Given the description of an element on the screen output the (x, y) to click on. 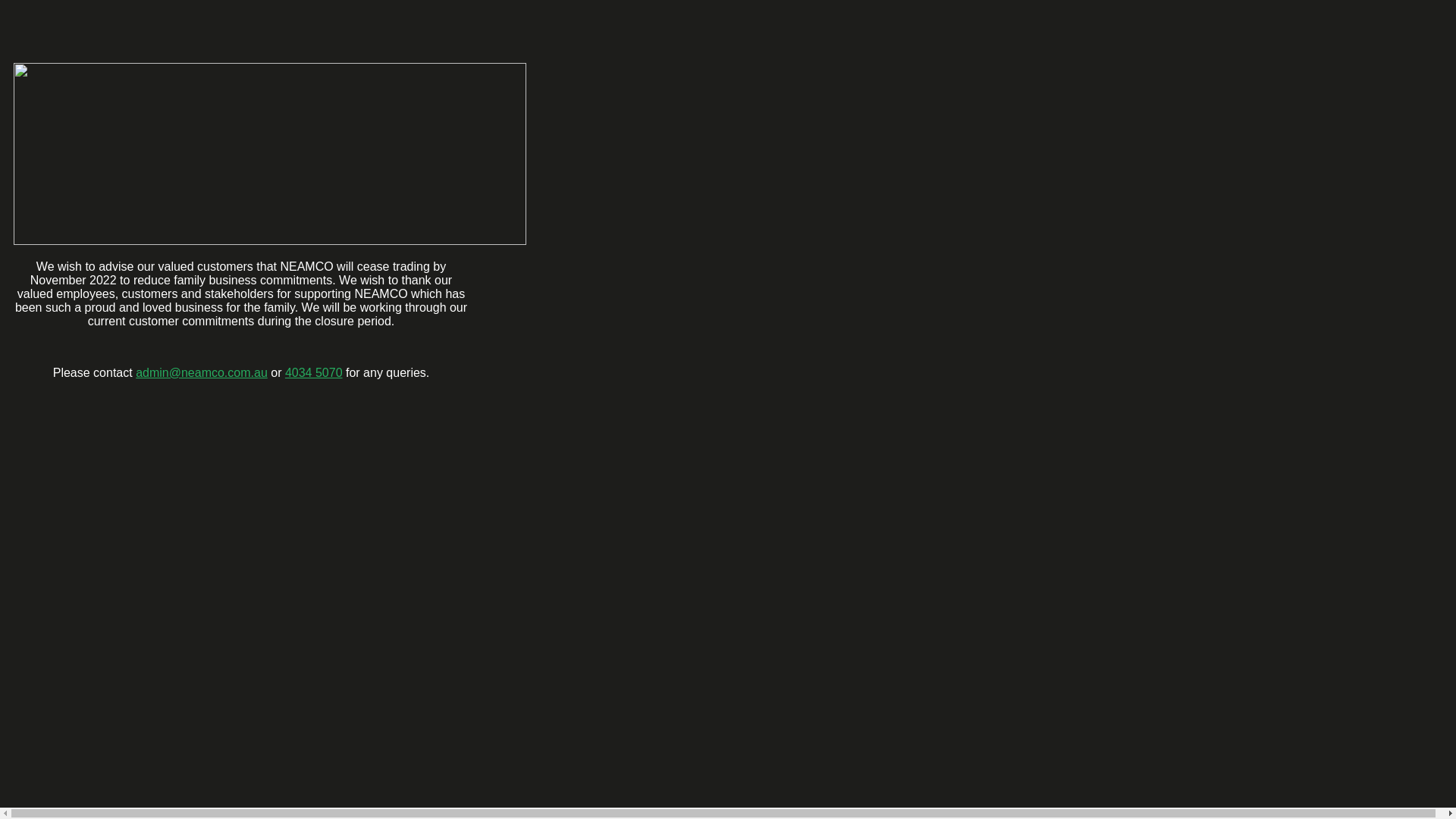
admin@neamco.com.au Element type: text (201, 372)
4034 5070 Element type: text (313, 372)
